Given the description of an element on the screen output the (x, y) to click on. 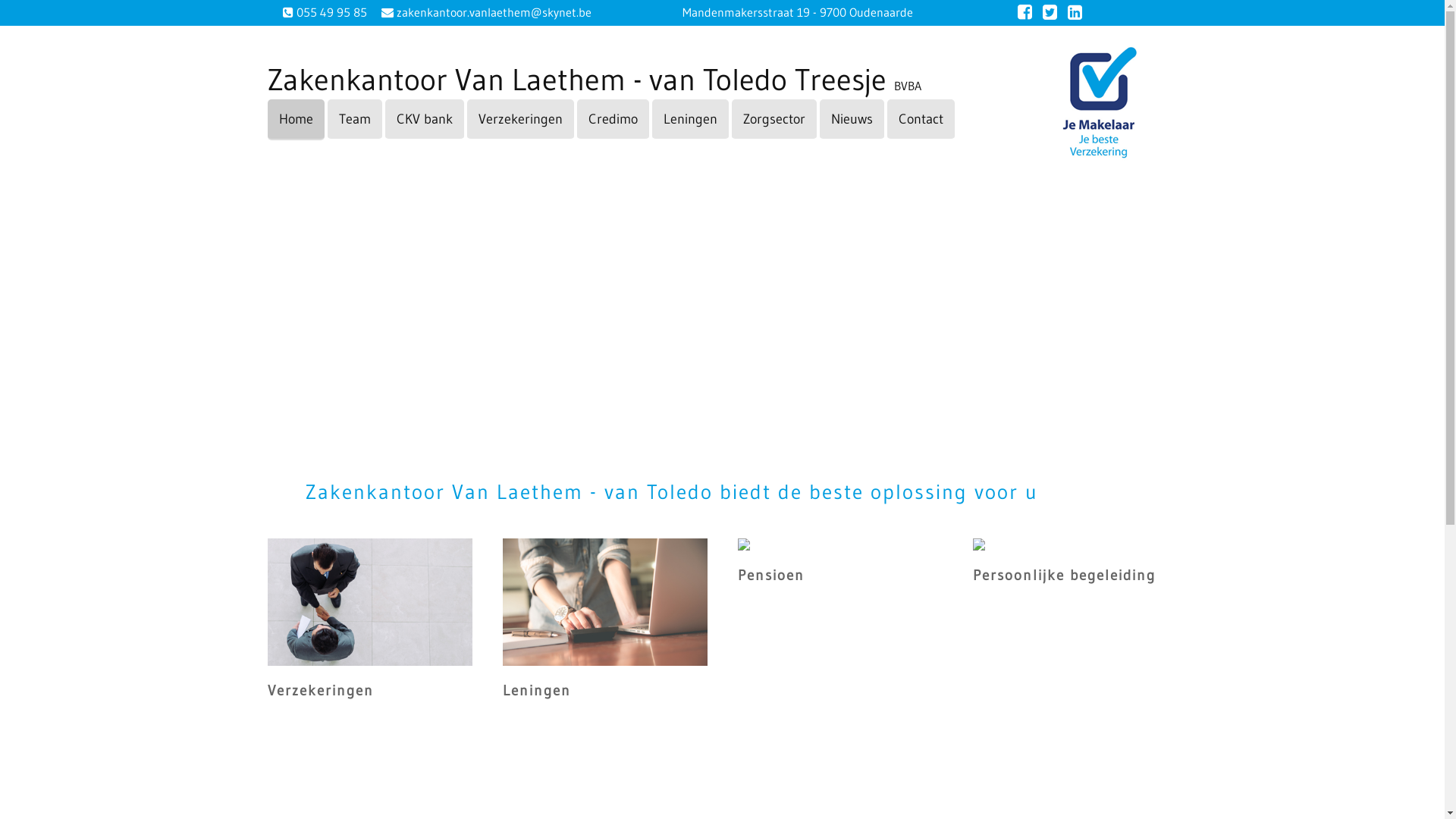
Verzekeringen Element type: text (520, 119)
Home Element type: text (294, 119)
CKV bank Element type: text (424, 119)
055 49 95 85 Element type: text (329, 11)
zakenkantoor.vanlaethem@skynet.be Element type: text (491, 11)
Leningen Element type: text (690, 119)
Zorgsector Element type: text (773, 119)
Credimo Element type: text (612, 119)
Contact Element type: text (920, 119)
Team Element type: text (354, 119)
Nieuws Element type: text (851, 119)
